Given the description of an element on the screen output the (x, y) to click on. 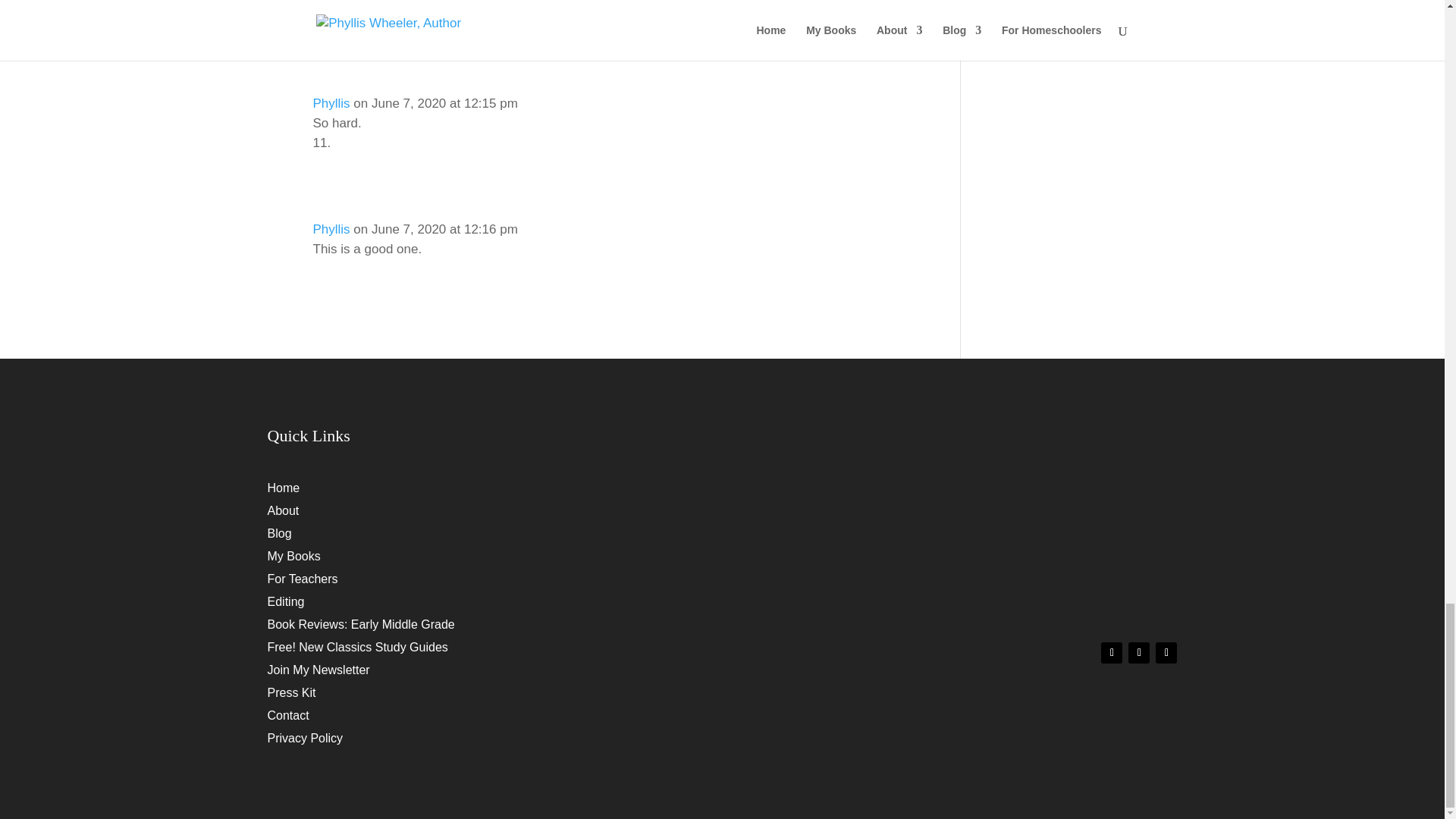
Follow on X (1139, 652)
Follow on Instagram (1166, 652)
Blog (278, 536)
Phyllis (331, 228)
Follow on Facebook (1111, 652)
Phyllis (331, 103)
About (282, 514)
Home (282, 491)
